Given the description of an element on the screen output the (x, y) to click on. 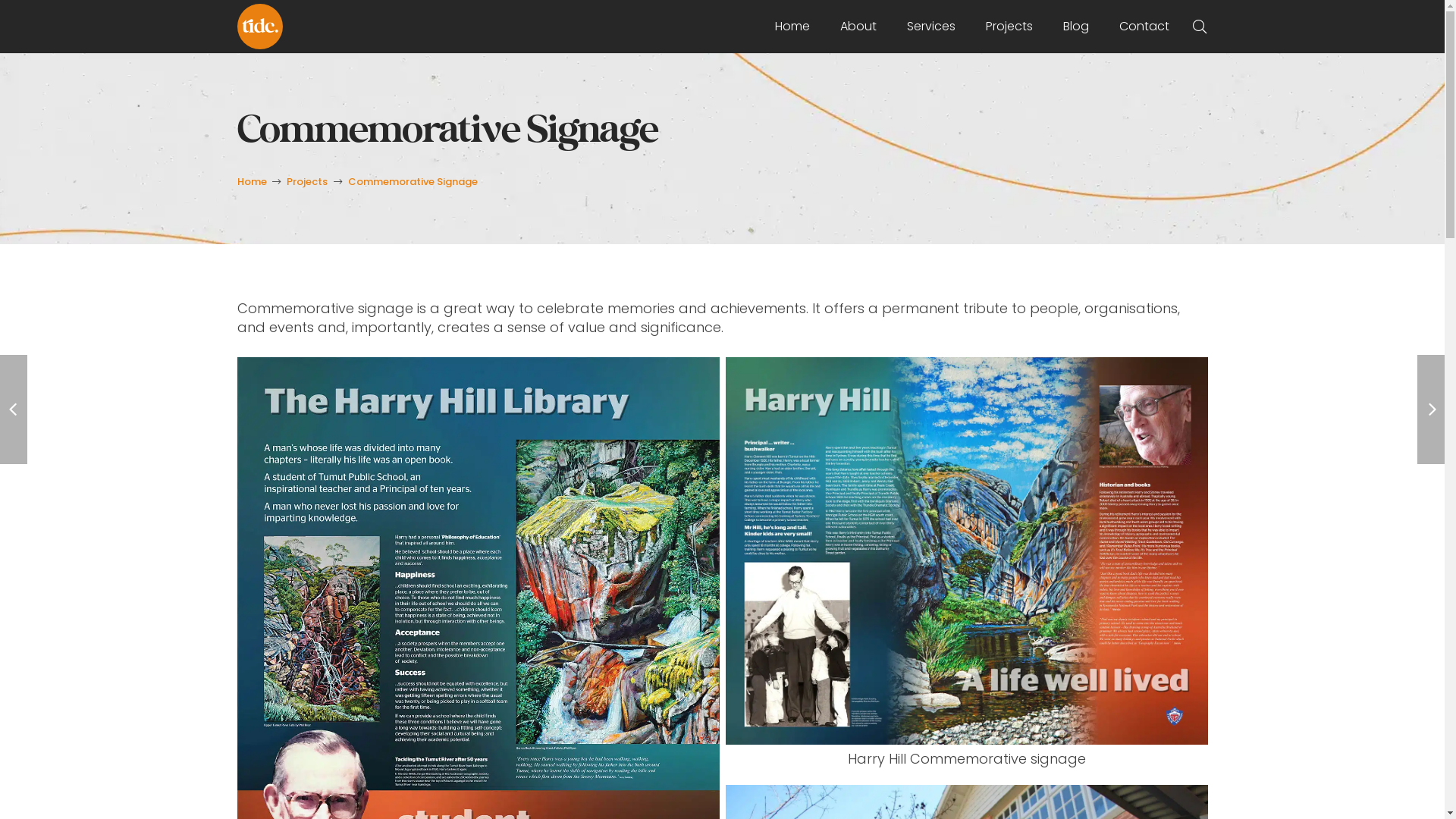
Services Element type: text (930, 26)
Contact Element type: text (1144, 26)
Home Element type: text (792, 26)
Harry Hill Commemorative signage Element type: hover (965, 567)
Projects Element type: text (306, 181)
About Element type: text (858, 26)
Commemorative Signage Element type: text (412, 181)
Blog Element type: text (1076, 26)
Projects Element type: text (1009, 26)
Home Element type: text (251, 181)
